Given the description of an element on the screen output the (x, y) to click on. 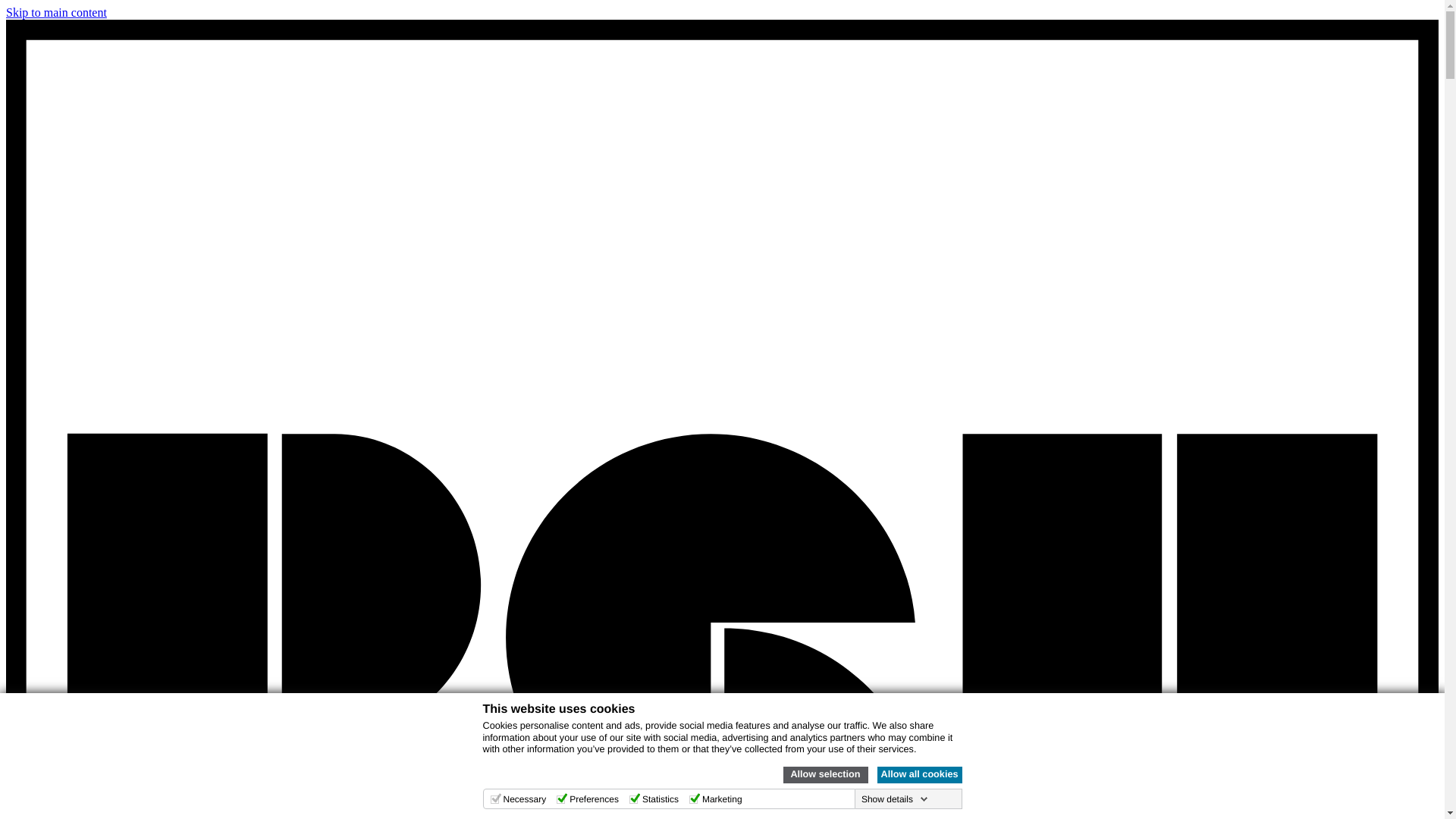
Show details (895, 799)
Allow all cookies (918, 774)
Allow selection (825, 774)
